Given the description of an element on the screen output the (x, y) to click on. 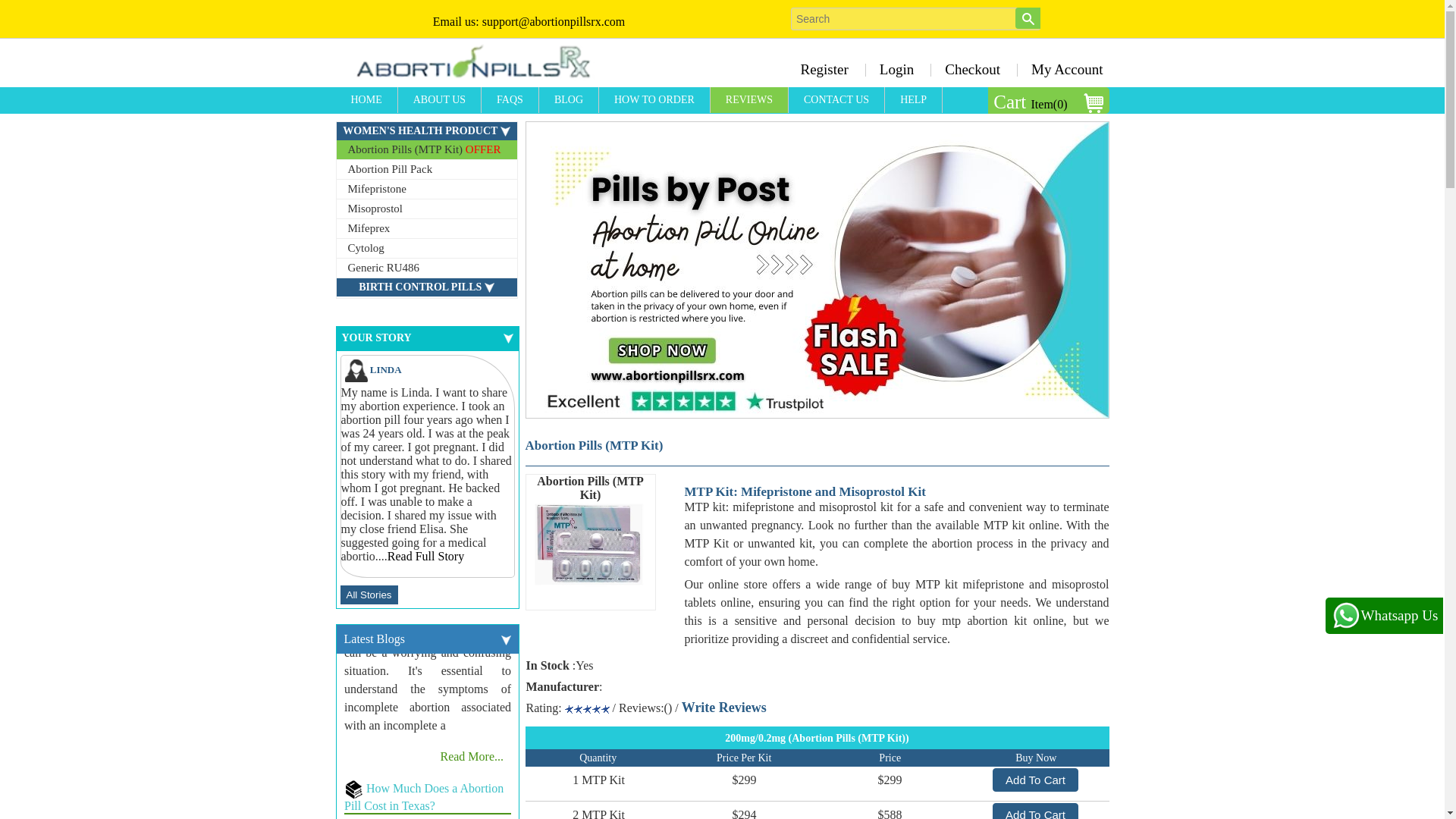
Checkout (972, 68)
FAQS (509, 99)
Read Full Story (425, 555)
HELP (913, 99)
BLOG (568, 99)
Mifeprex (426, 229)
Login (896, 68)
Register (824, 68)
All Stories (368, 594)
My Account (1062, 68)
Mifepristone (426, 189)
Cytolog (426, 248)
HOME (365, 99)
CONTACT US (837, 99)
